Given the description of an element on the screen output the (x, y) to click on. 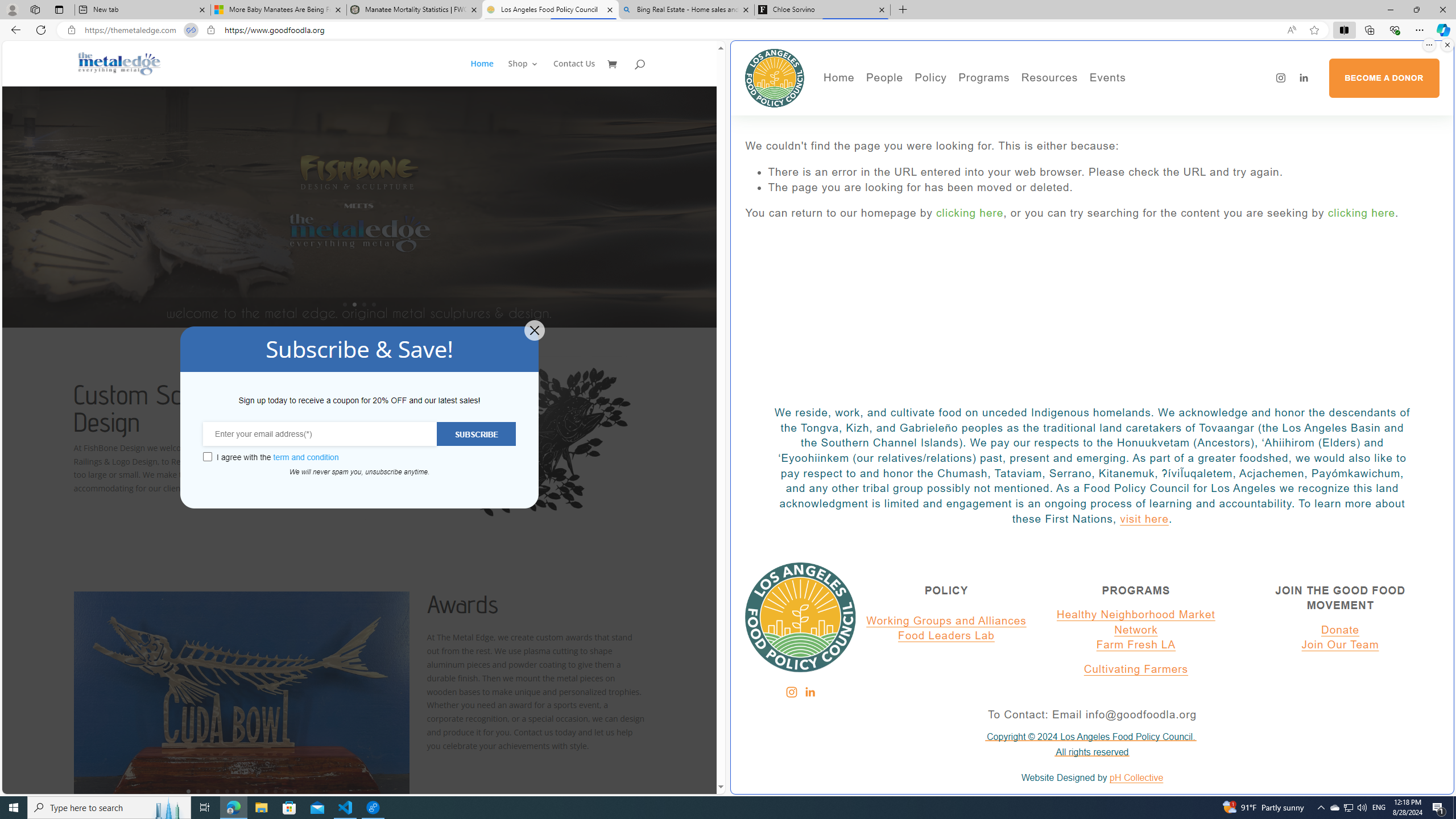
Los Angeles Food Policy Council (550, 9)
Tabs in split screen (190, 29)
Farm Fresh LA (1136, 645)
Food Leaders Lab (946, 636)
4 (217, 790)
Press (922, 132)
LA Foodscapes (1146, 116)
3 (207, 790)
The page you are looking for has been moved or deleted. (1103, 187)
Healthy Neighborhood Market Network (1135, 622)
